Given the description of an element on the screen output the (x, y) to click on. 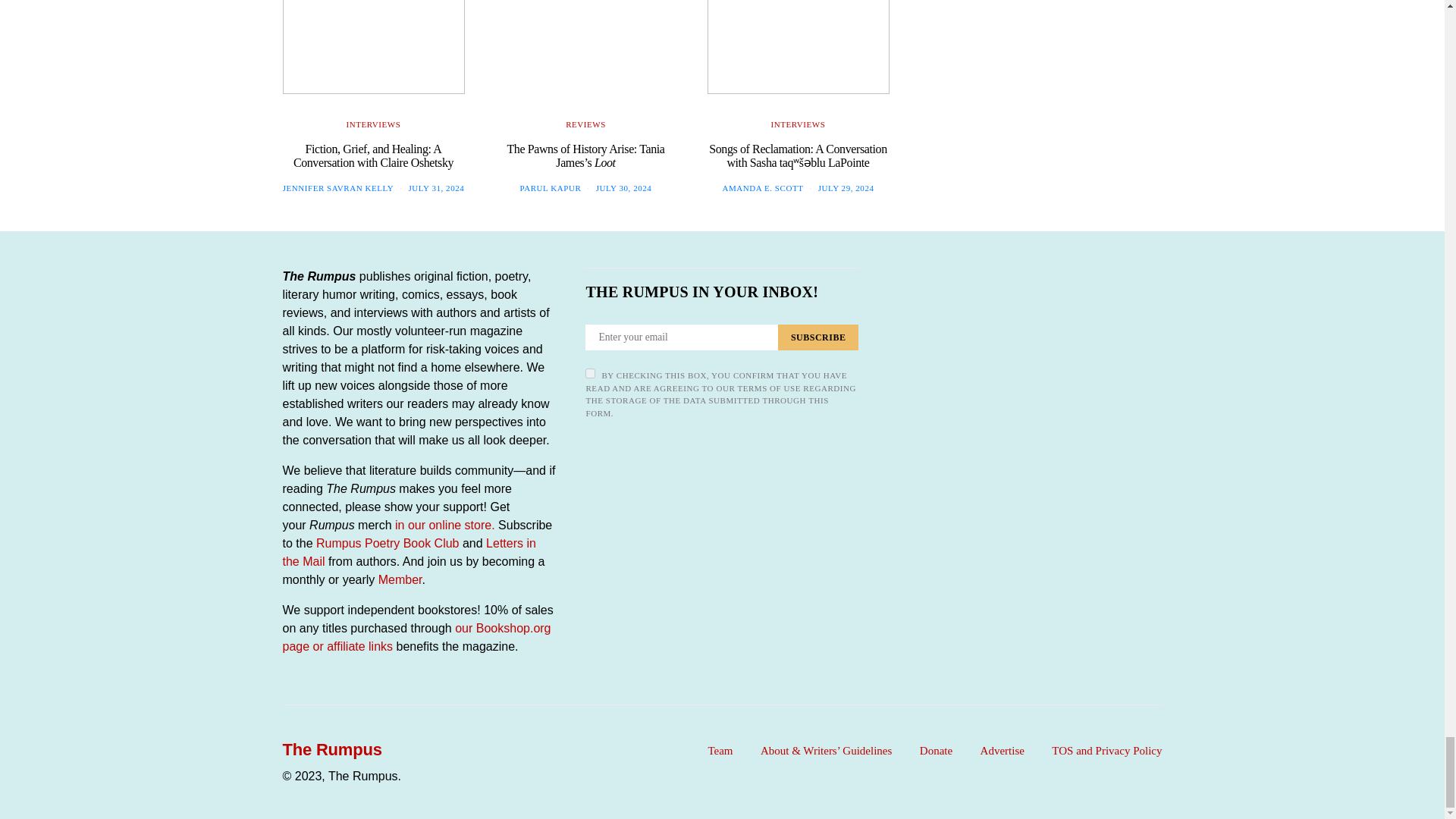
View all posts by Parul Kapur (549, 187)
on (590, 373)
View all posts by Amanda E. Scott (762, 187)
View all posts by Jennifer Savran Kelly (338, 187)
